Given the description of an element on the screen output the (x, y) to click on. 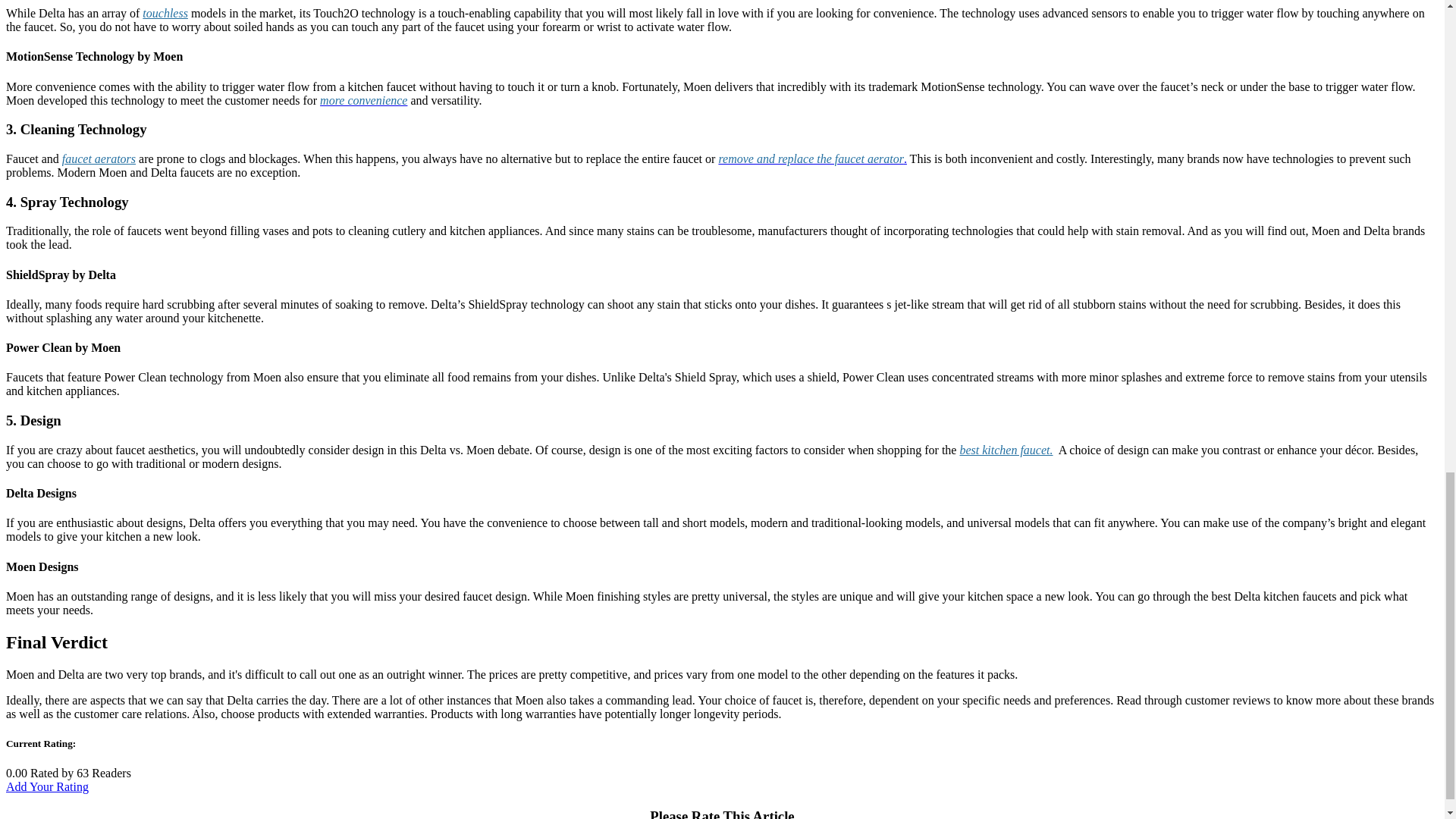
Add Your Rating (46, 786)
remove and replace the faucet aerator. (812, 158)
best kitchen faucet. (1005, 449)
faucet aerators (98, 158)
more convenience (363, 100)
touchless (164, 12)
